Given the description of an element on the screen output the (x, y) to click on. 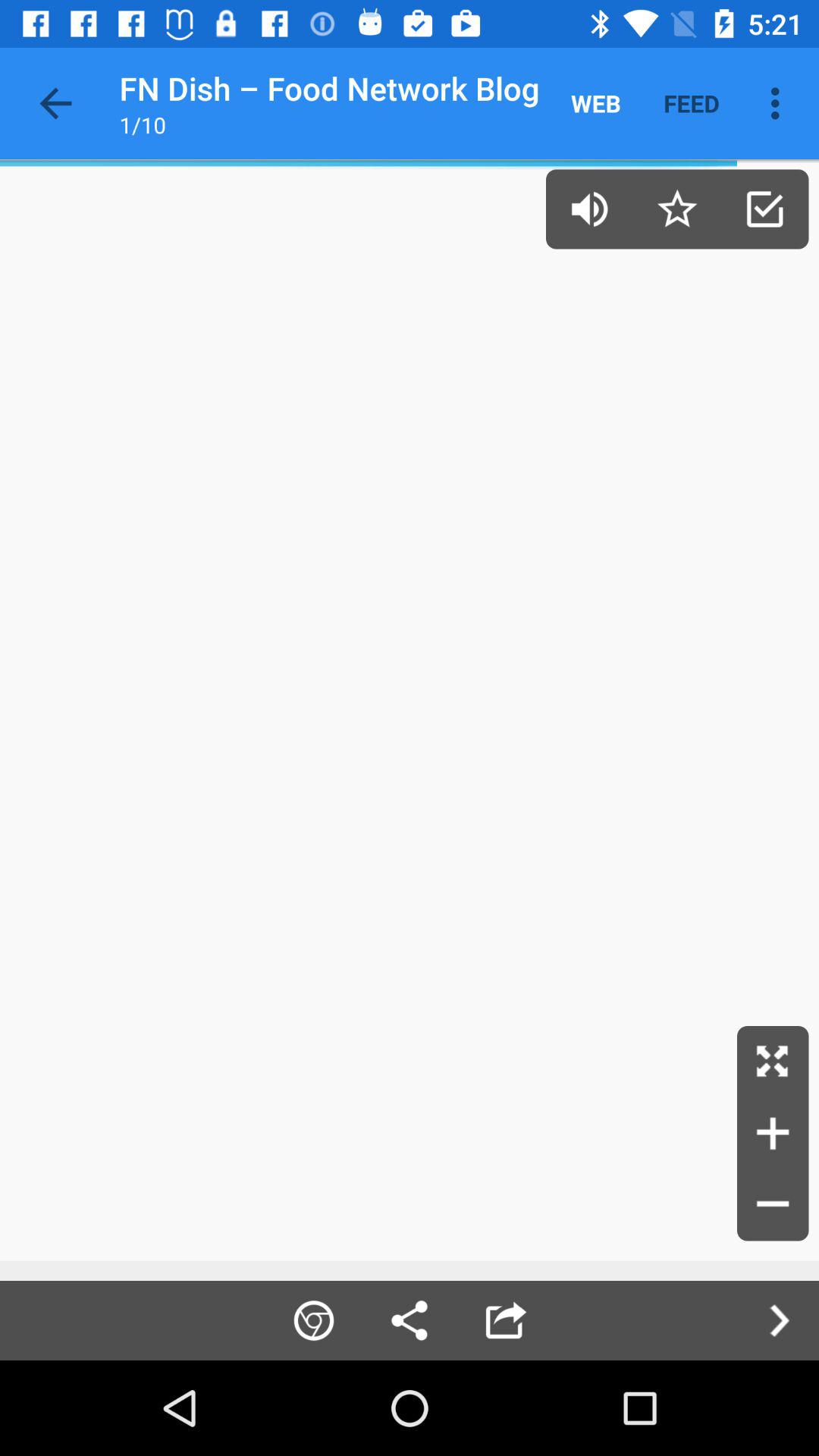
volume button (589, 209)
